Given the description of an element on the screen output the (x, y) to click on. 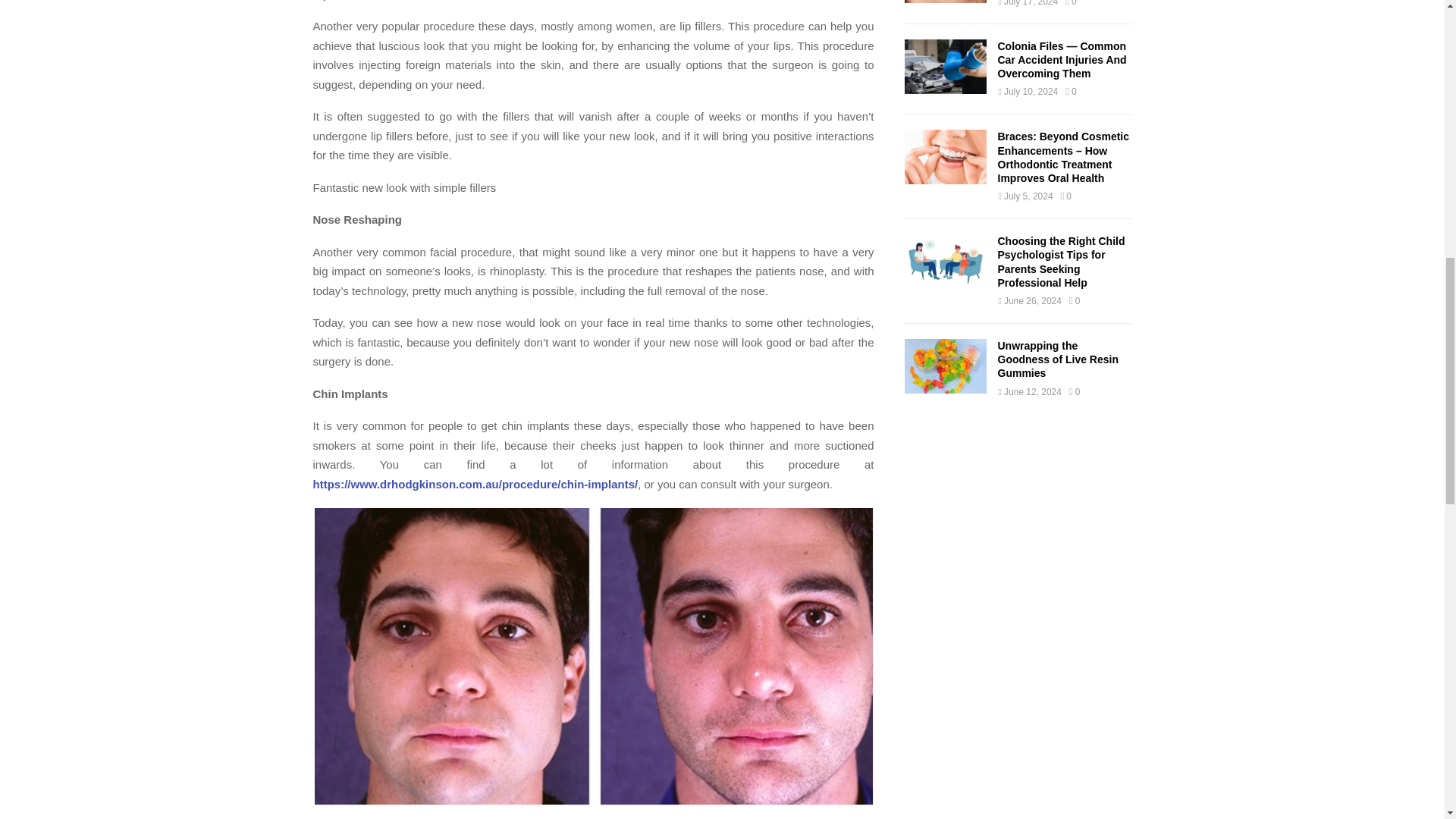
Clear Acne Scars Fast with Powerful Pico Laser Technology (944, 1)
